Given the description of an element on the screen output the (x, y) to click on. 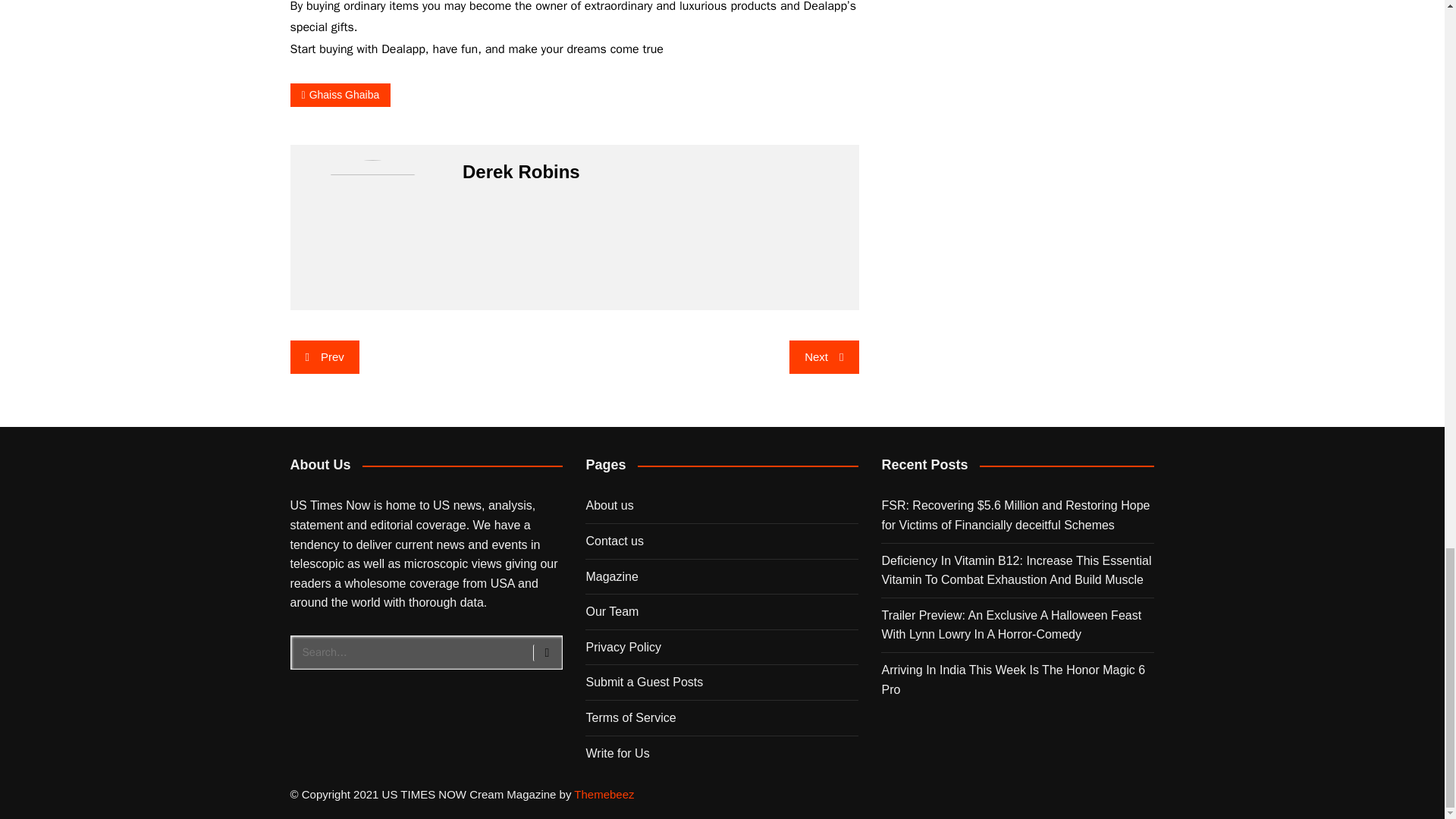
Next (824, 356)
Prev (323, 356)
Magazine (611, 576)
About us (609, 504)
Contact us (614, 540)
Ghaiss Ghaiba (339, 95)
